Given the description of an element on the screen output the (x, y) to click on. 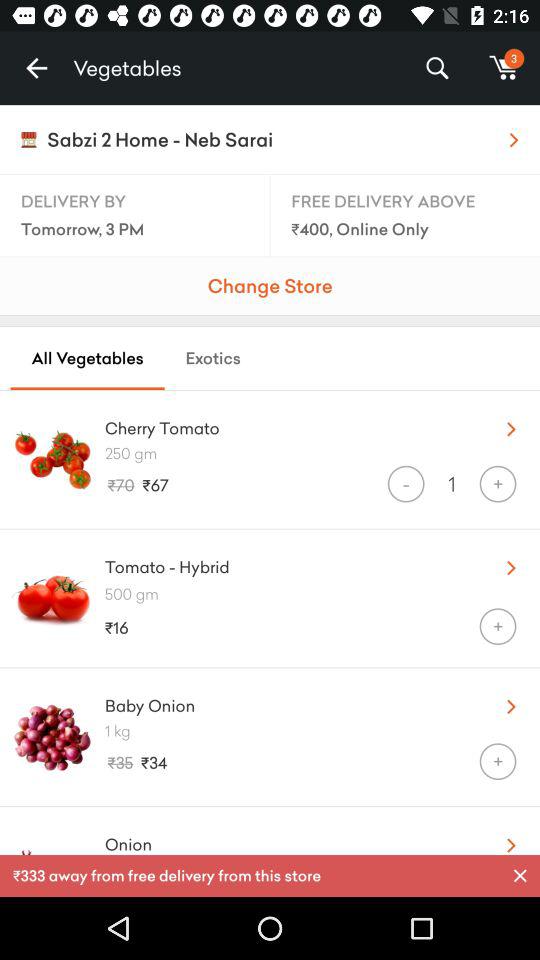
flip until baby onion (288, 701)
